Given the description of an element on the screen output the (x, y) to click on. 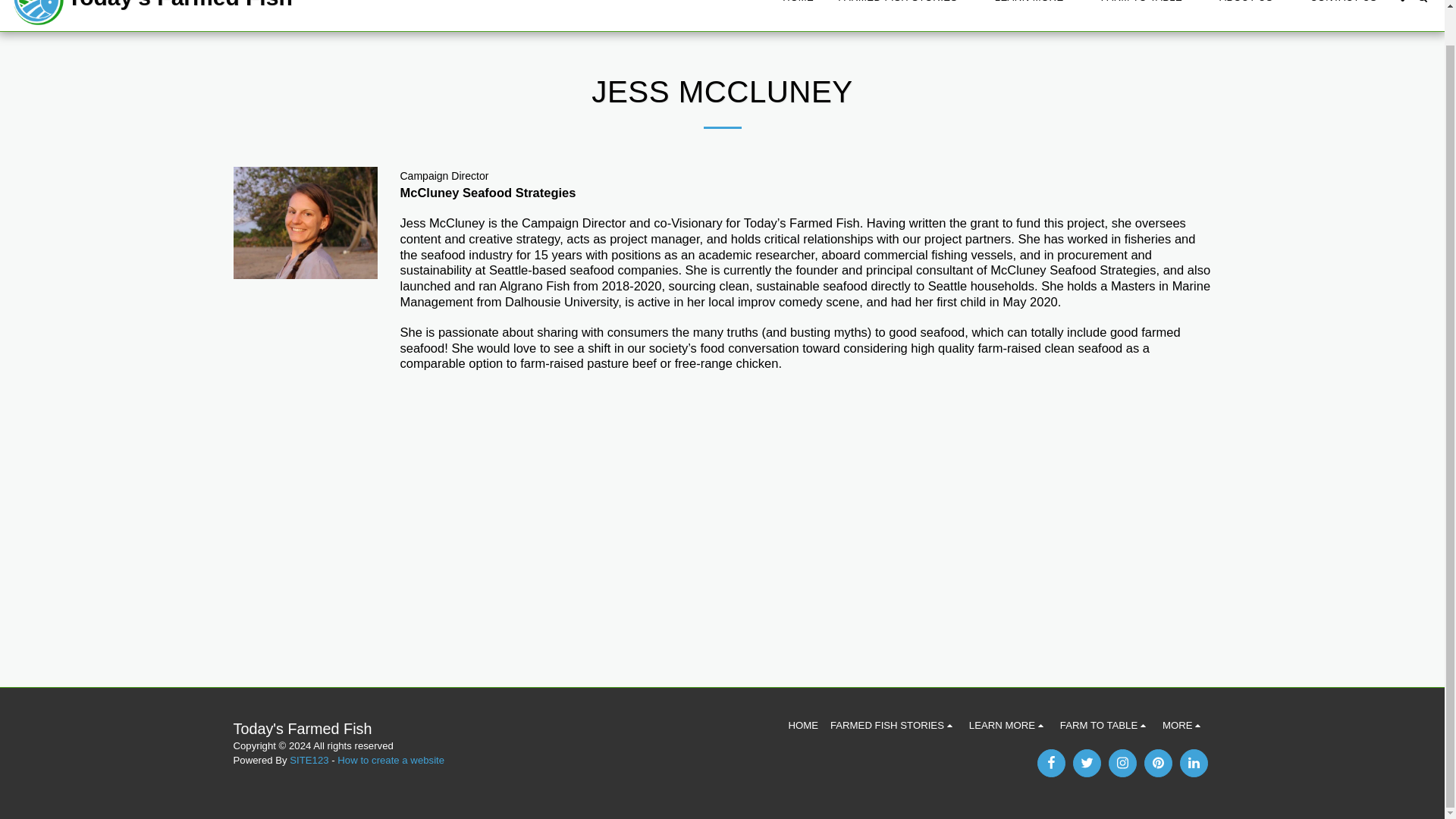
FARMED FISH STORIES   (904, 3)
HOME (798, 3)
Today's Farmed Fish (151, 15)
FARM TO TABLE   (1148, 3)
LEARN MORE   (1035, 3)
CONTACT US (1343, 3)
ABOUT US   (1252, 3)
